Given the description of an element on the screen output the (x, y) to click on. 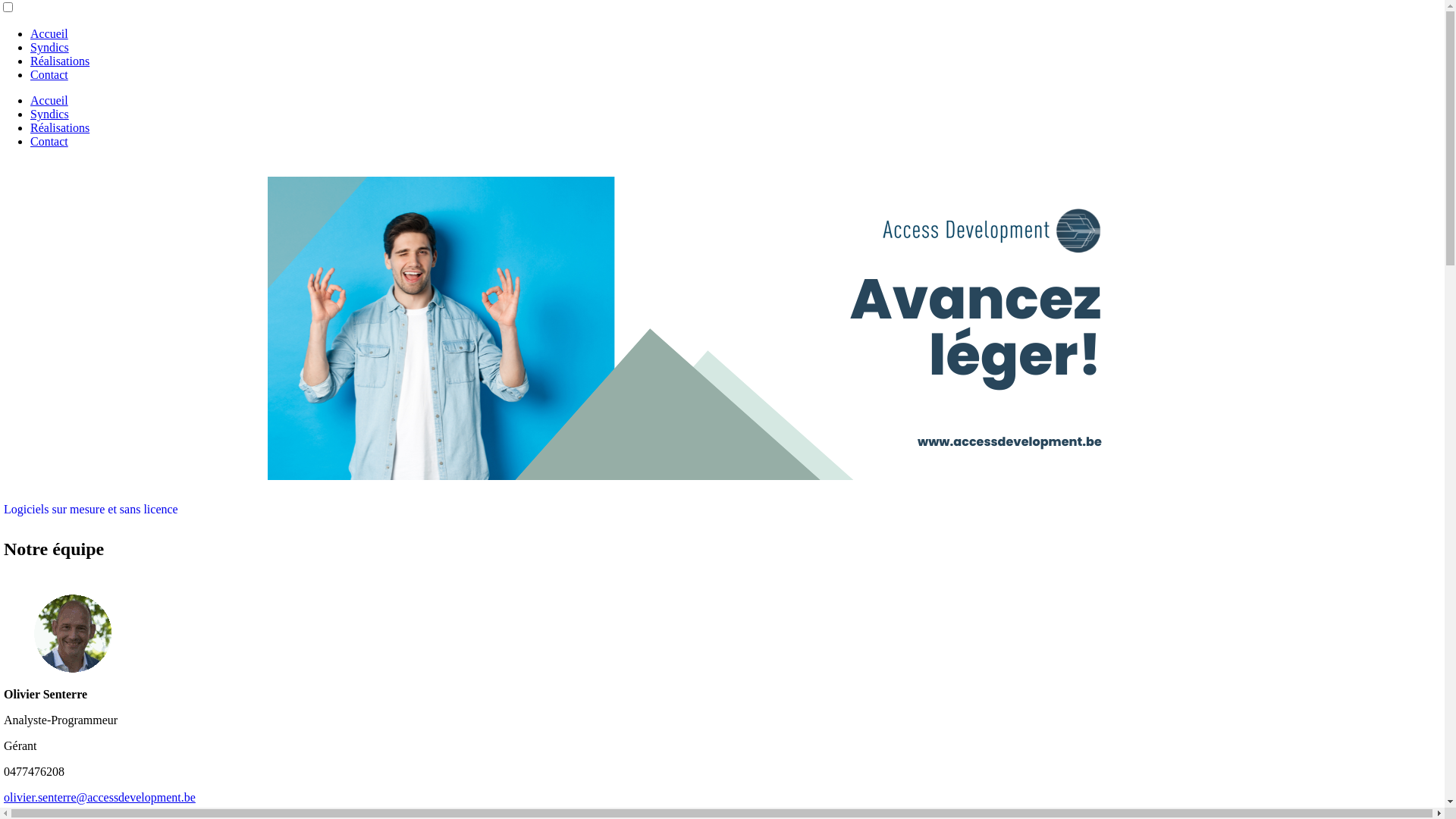
Accueil Element type: text (49, 33)
Logiciels sur mesure et sans licence Element type: text (90, 508)
olivier.senterre@accessdevelopment.be Element type: text (99, 796)
Contact Element type: text (49, 140)
Accueil Element type: text (49, 100)
Syndics Element type: text (49, 113)
Syndics Element type: text (49, 46)
Contact Element type: text (49, 74)
